Given the description of an element on the screen output the (x, y) to click on. 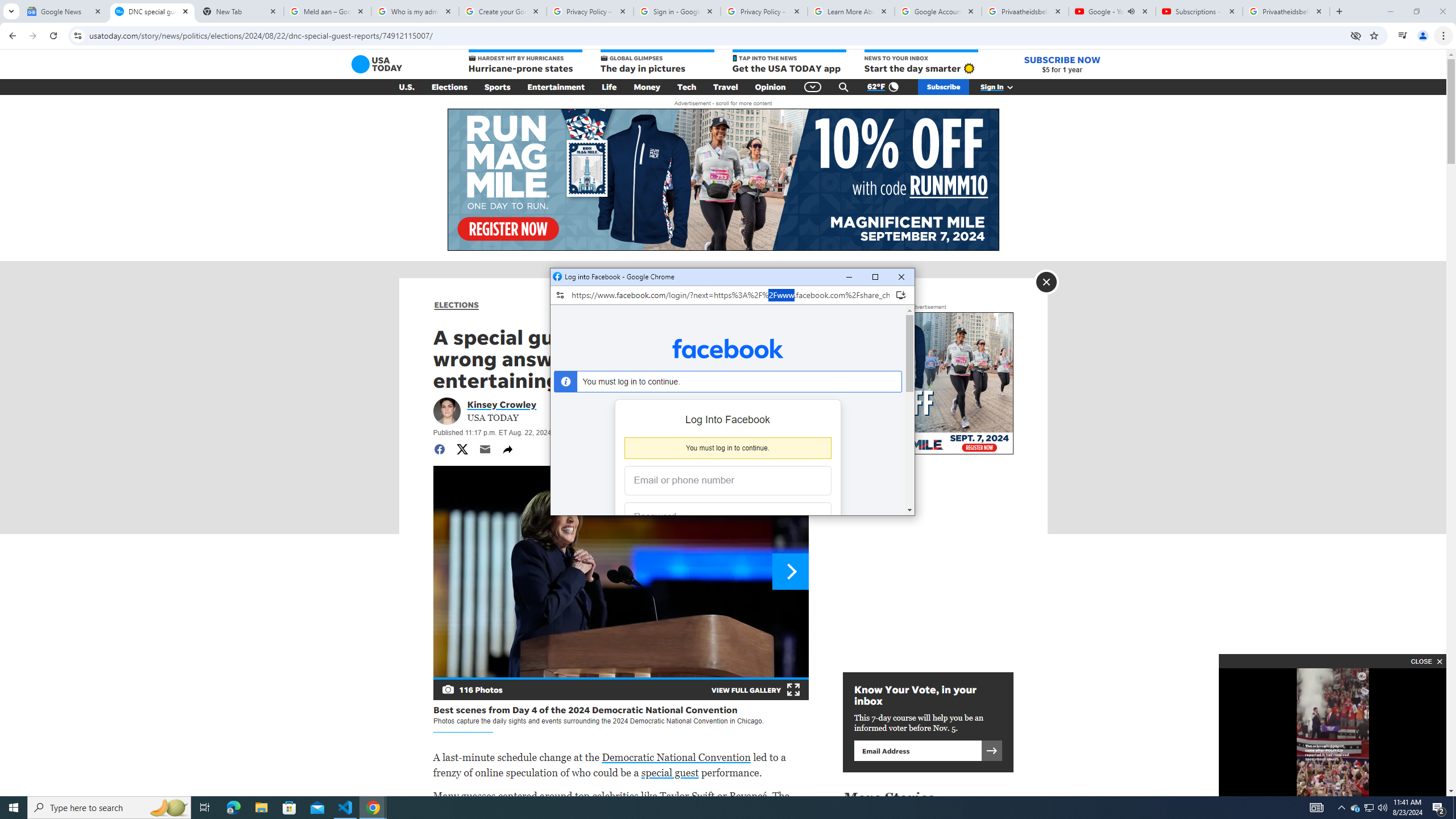
Notification Chevron (1341, 807)
Share by email (484, 449)
Sign in - Google Accounts (676, 11)
User Promoted Notification Area (1368, 807)
Sign In (1002, 87)
Google News (64, 11)
Mute tab (1130, 10)
Control your music, videos, and more (1355, 807)
Show desktop (1402, 35)
Google - YouTube - Audio playing (1454, 807)
Submit to sign up for newsletter (1111, 11)
New Tab (991, 750)
